Given the description of an element on the screen output the (x, y) to click on. 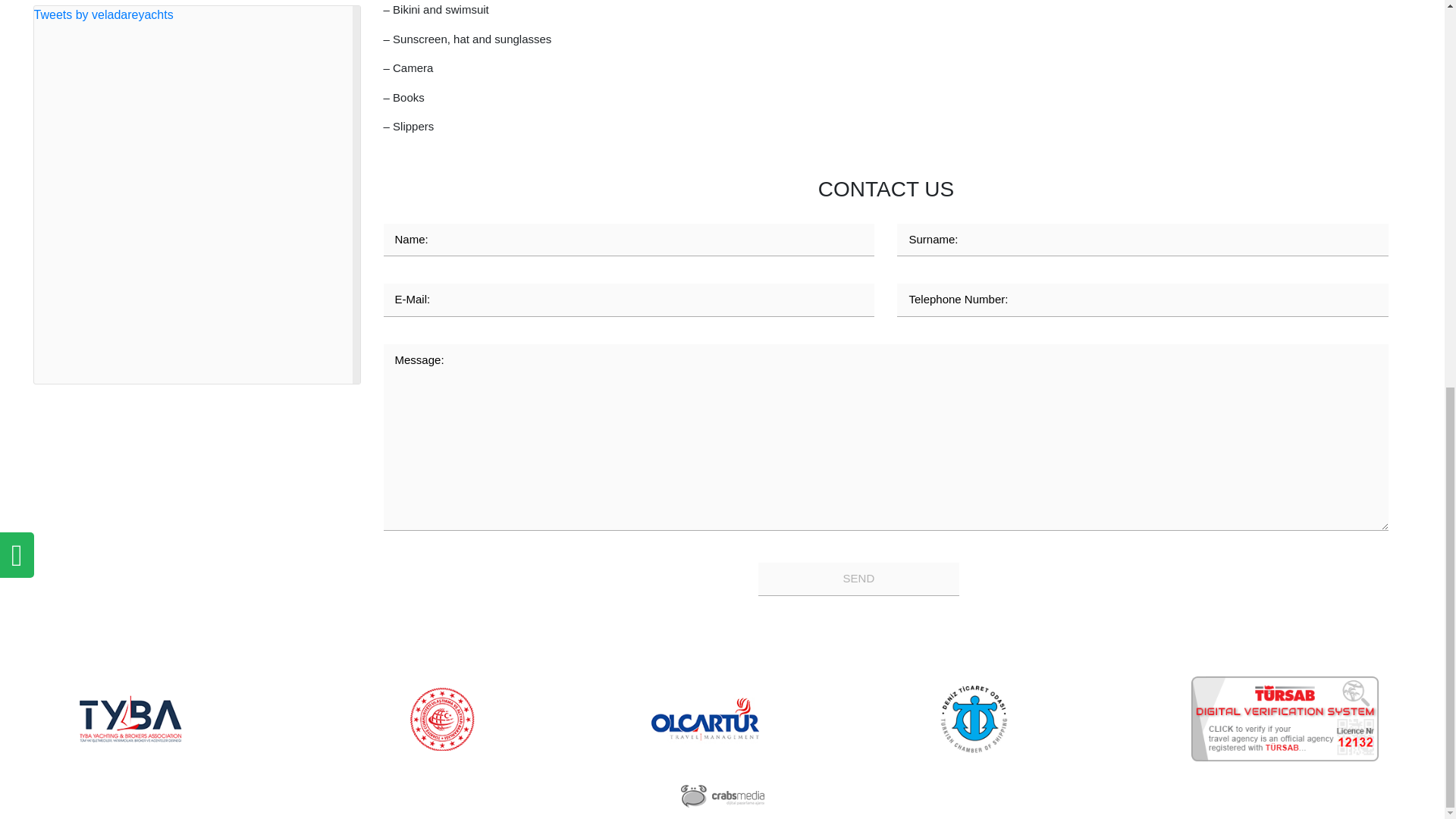
SEND (858, 579)
